Given the description of an element on the screen output the (x, y) to click on. 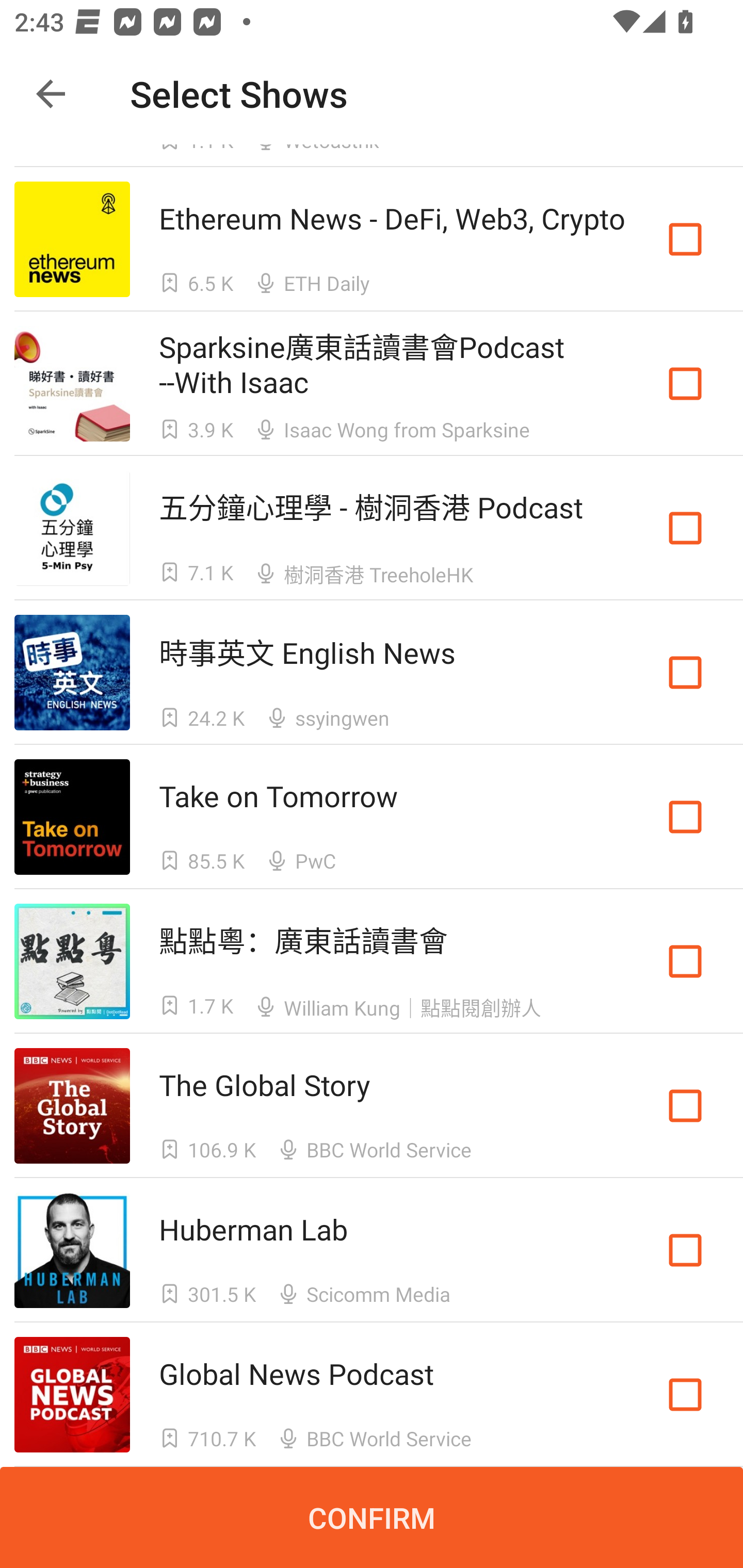
Navigate up (50, 93)
Take on Tomorrow Take on Tomorrow  85.5 K  PwC (371, 816)
CONFIRM (371, 1517)
